Given the description of an element on the screen output the (x, y) to click on. 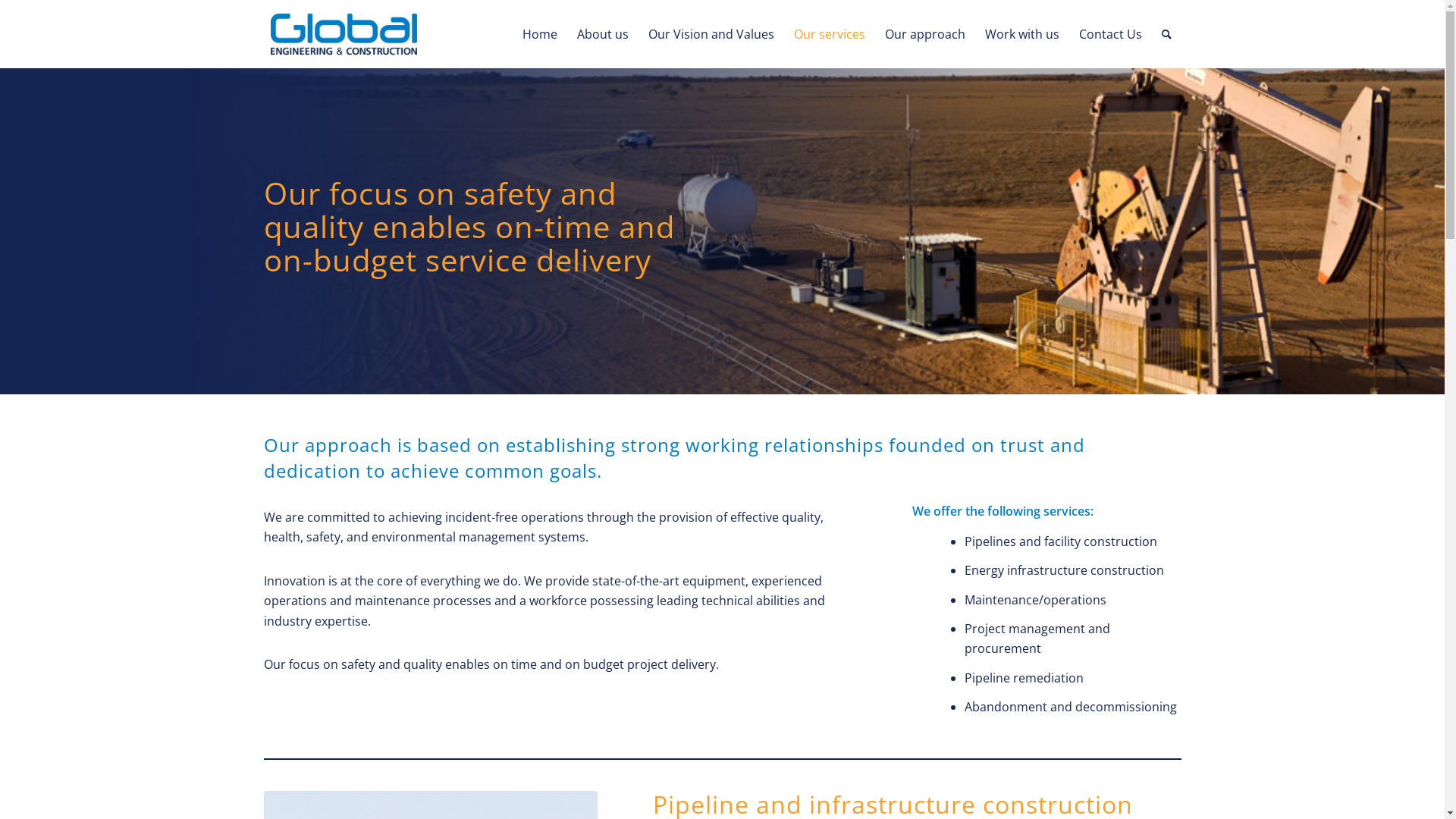
About us Element type: text (602, 34)
Contact Us Element type: text (1110, 34)
Work with us Element type: text (1022, 34)
Home Element type: text (539, 34)
Our approach Element type: text (925, 34)
Our Vision and Values Element type: text (711, 34)
Our services Element type: text (829, 34)
